Given the description of an element on the screen output the (x, y) to click on. 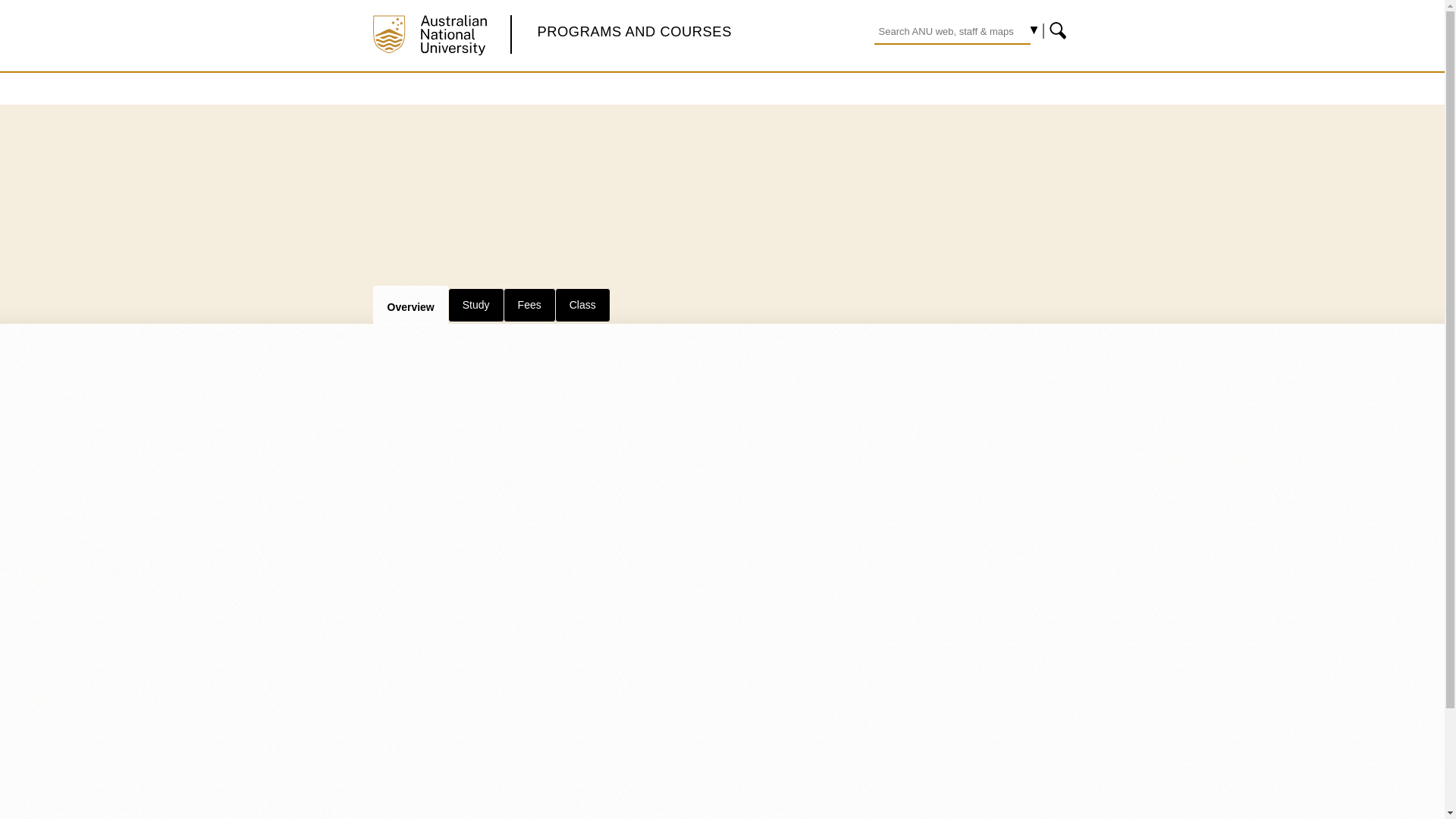
Go (1059, 30)
PROGRAMS AND COURSES (633, 31)
Study (475, 304)
Overview (410, 304)
Class (582, 304)
Fees (529, 304)
